Given the description of an element on the screen output the (x, y) to click on. 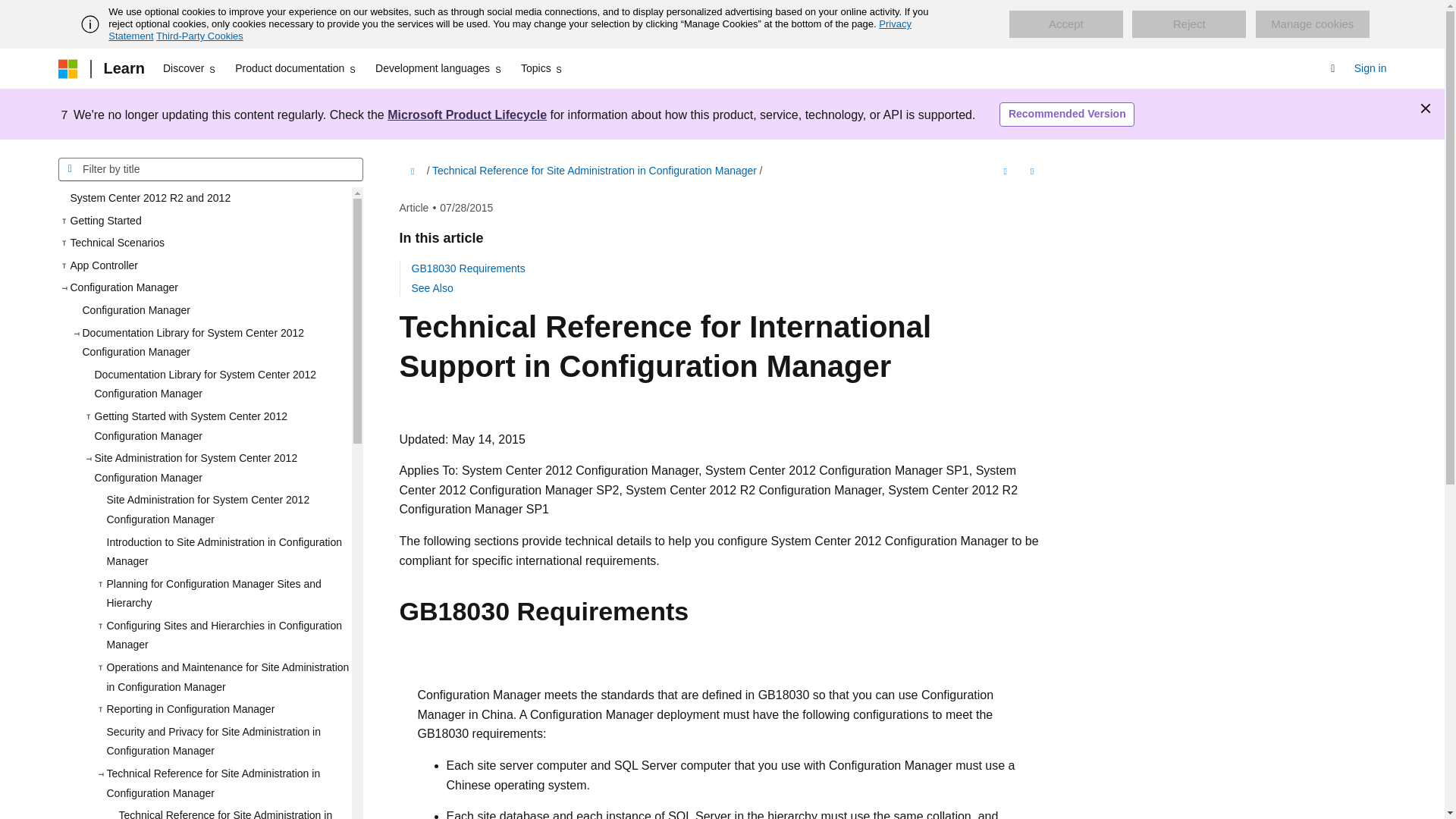
More actions (1031, 170)
Product documentation (295, 68)
Introduction to Site Administration in Configuration Manager (222, 551)
Dismiss alert (1425, 108)
Privacy Statement (509, 29)
Accept (1065, 23)
Manage cookies (1312, 23)
Recommended Version (1066, 114)
Reject (1189, 23)
